Given the description of an element on the screen output the (x, y) to click on. 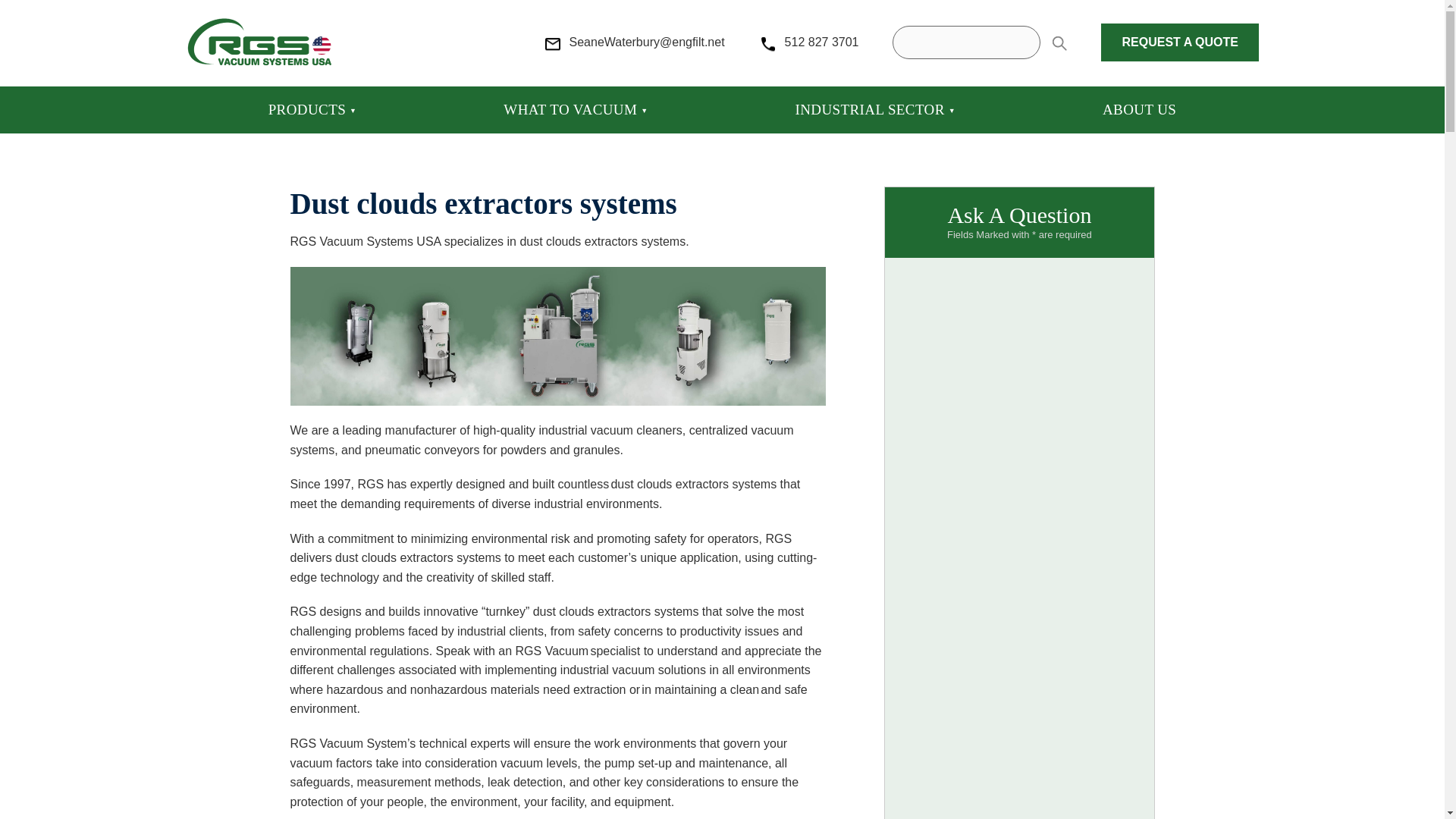
Form 1 (1022, 561)
RGS Vaccums USA (259, 41)
